Given the description of an element on the screen output the (x, y) to click on. 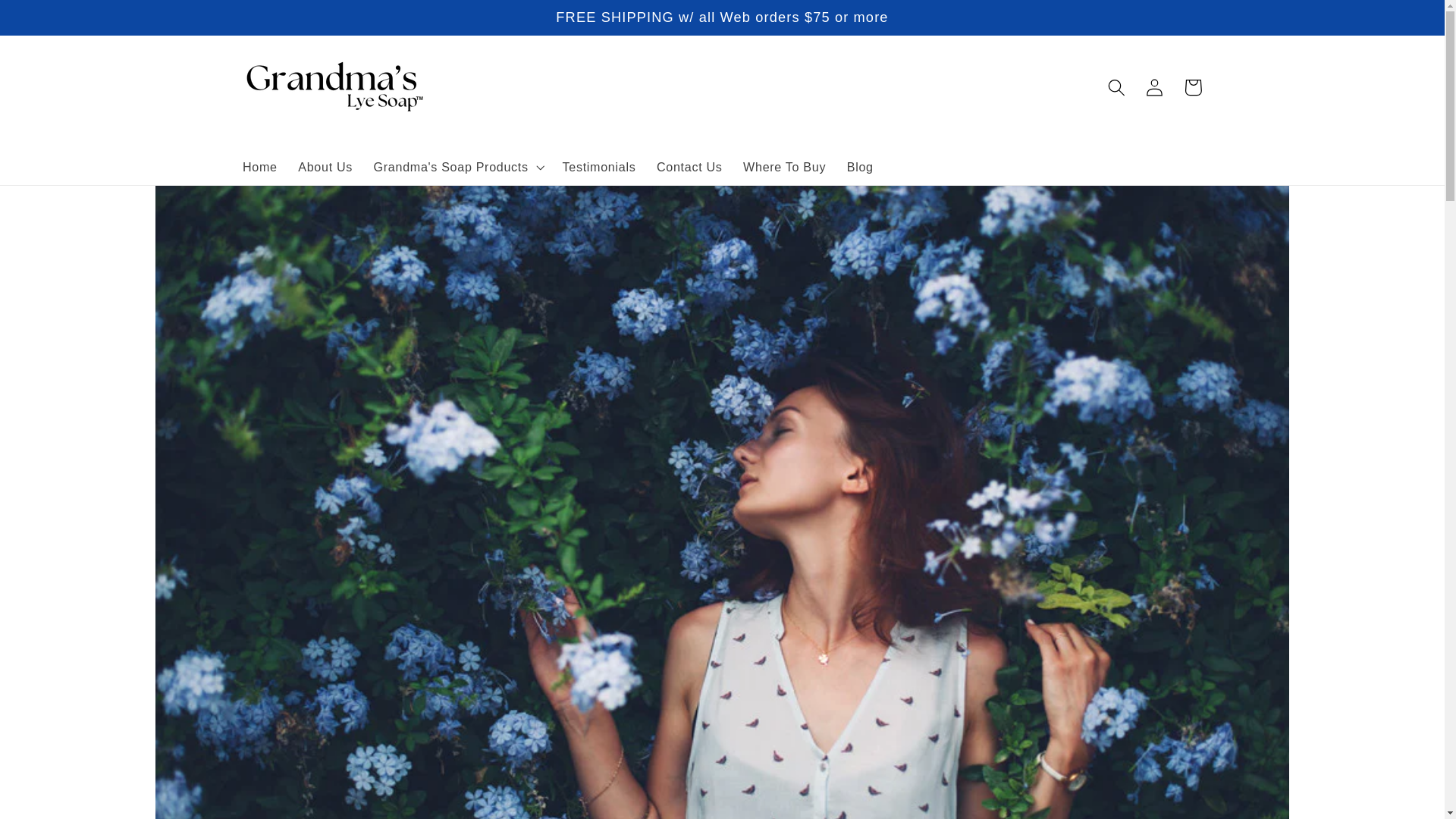
Cart (1192, 87)
Contact Us (689, 166)
About Us (325, 166)
Where To Buy (783, 166)
Testimonials (598, 166)
Home (258, 166)
Blog (859, 166)
Skip to content (52, 20)
Log in (1154, 87)
